Given the description of an element on the screen output the (x, y) to click on. 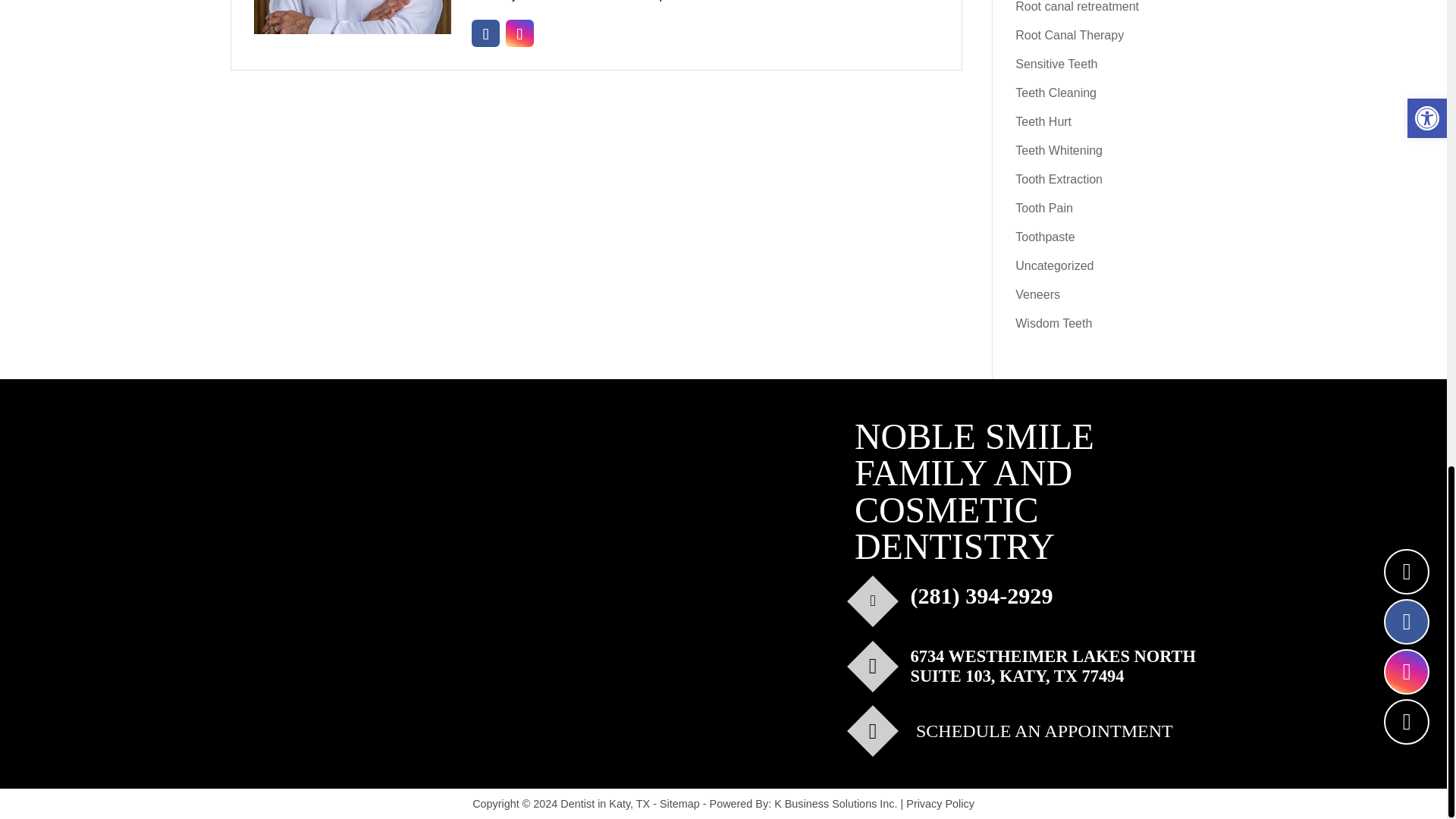
Follow on Facebook (485, 33)
Follow on Instagram (519, 33)
